Given the description of an element on the screen output the (x, y) to click on. 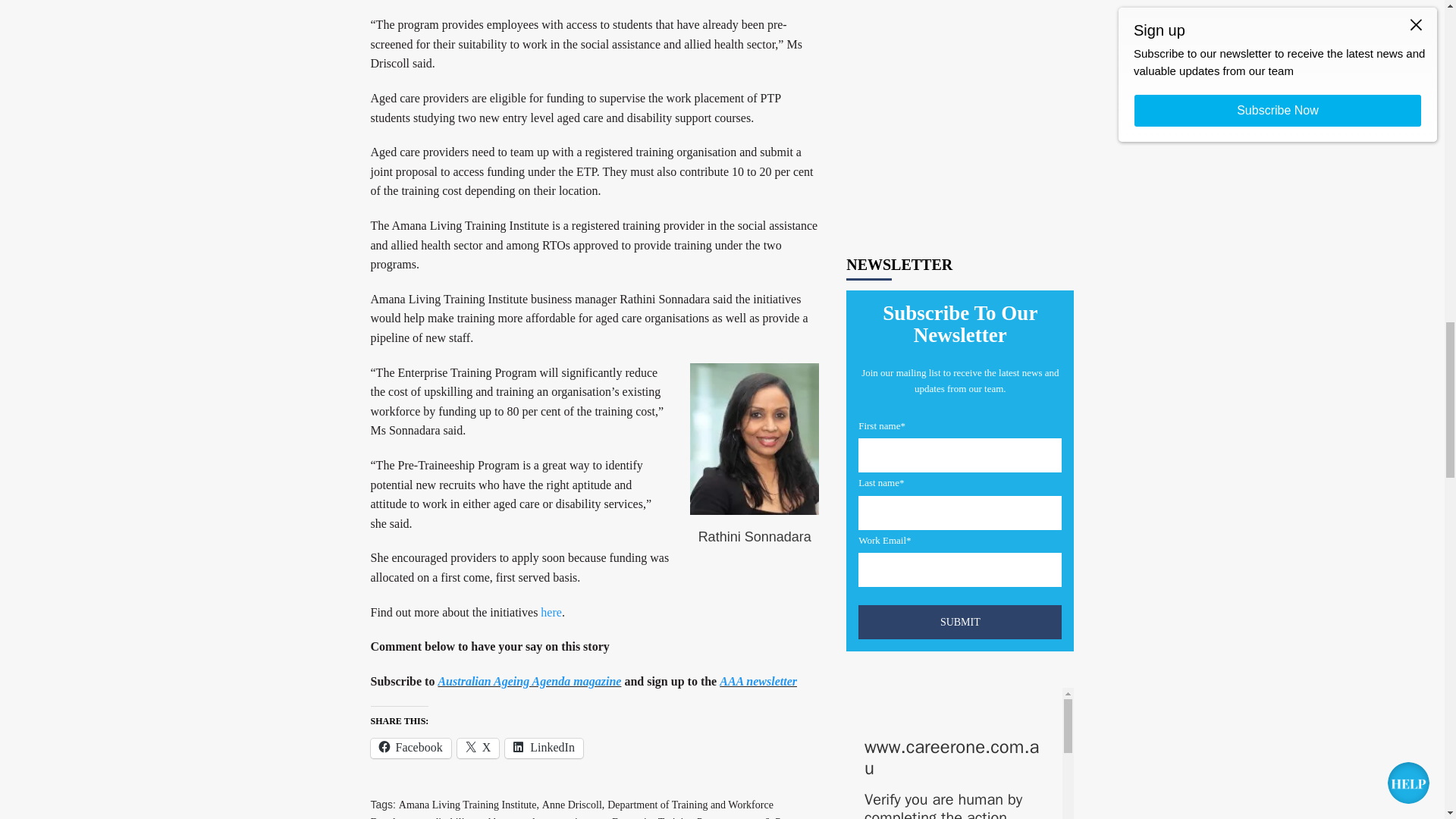
314 (864, 736)
AAA newsletter (757, 680)
Enterprise Training Program, (673, 817)
Facebook (409, 748)
disability and home and community care, (520, 817)
3rd party ad content (959, 57)
315 (864, 812)
here (551, 612)
313 (864, 679)
news-6, (756, 817)
X (478, 748)
Click to share on Facebook (409, 748)
Amana Living Training Institute, (468, 804)
LinkedIn (544, 748)
